Given the description of an element on the screen output the (x, y) to click on. 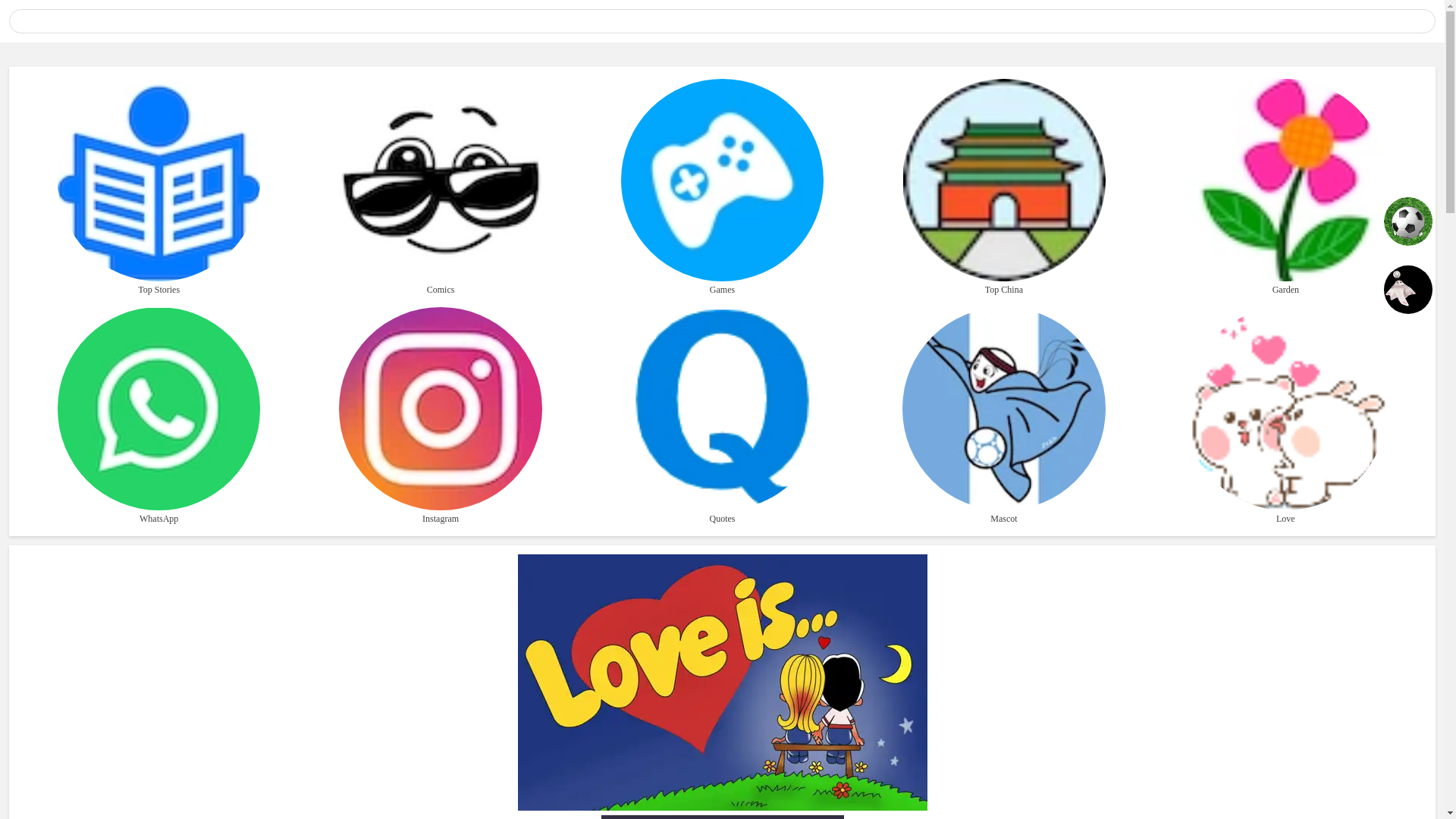
Top China Element type: text (1003, 188)
Instagram Element type: text (439, 416)
Garden Element type: text (1285, 188)
Mascot Element type: text (1003, 416)
Comics Element type: text (439, 188)
Quotes Element type: text (721, 416)
Love Element type: text (1285, 416)
Top Stories Element type: text (158, 188)
Games Element type: text (721, 188)
WhatsApp Element type: text (158, 416)
